Given the description of an element on the screen output the (x, y) to click on. 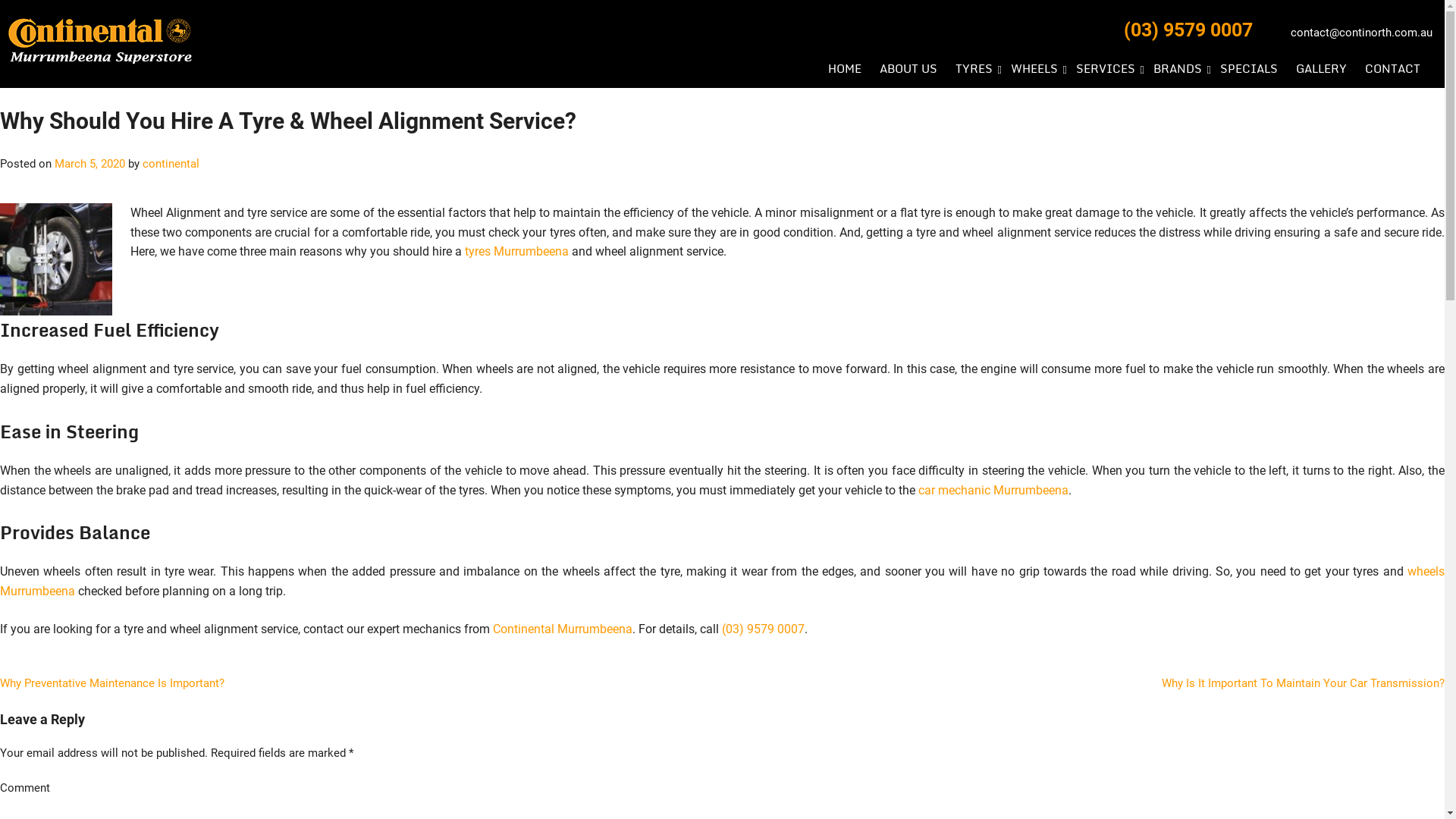
contact@continorth.com.au Element type: text (1361, 28)
GALLERY Element type: text (1320, 68)
Why Is It Important To Maintain Your Car Transmission? Element type: text (1302, 683)
March 5, 2020 Element type: text (89, 163)
continental Element type: text (170, 163)
(03) 9579 0007 Element type: text (1187, 30)
(03) 9579 0007 Element type: text (762, 628)
HOME Element type: text (844, 68)
Why Preventative Maintenance Is Important? Element type: text (112, 683)
BRANDS Element type: text (1177, 68)
SERVICES Element type: text (1105, 68)
car mechanic Murrumbeena Element type: text (993, 490)
CONTACT Element type: text (1392, 68)
tyres Murrumbeena Element type: text (516, 251)
TYRES Element type: text (973, 68)
SPECIALS Element type: text (1248, 68)
ABOUT US Element type: text (908, 68)
wheels Murrumbeena Element type: text (722, 581)
Skip to content Element type: text (0, 0)
WHEELS Element type: text (1033, 68)
Continental Murrumbeena Element type: text (562, 628)
